Given the description of an element on the screen output the (x, y) to click on. 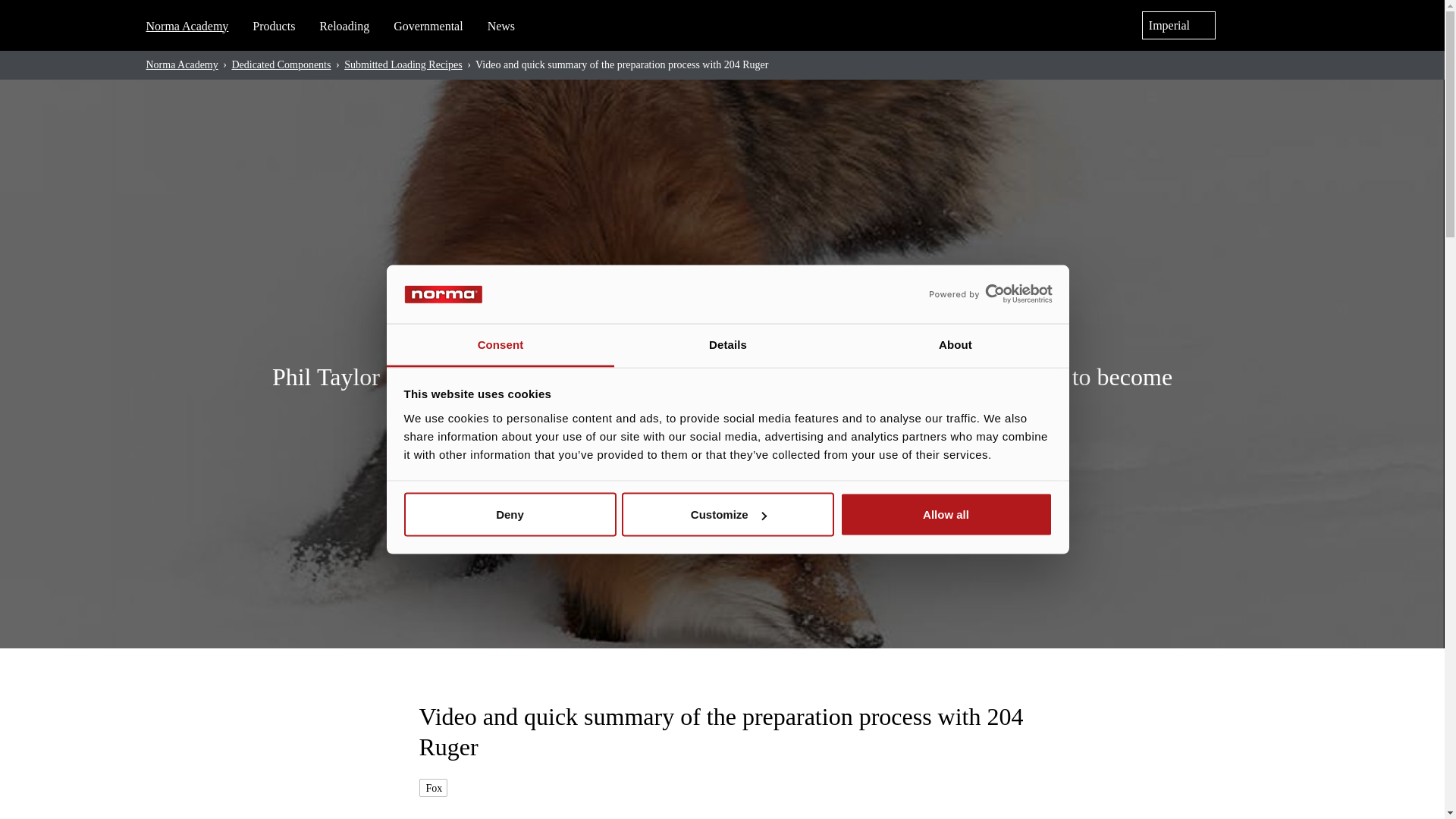
Details (727, 344)
Consent (500, 344)
About (954, 344)
